Given the description of an element on the screen output the (x, y) to click on. 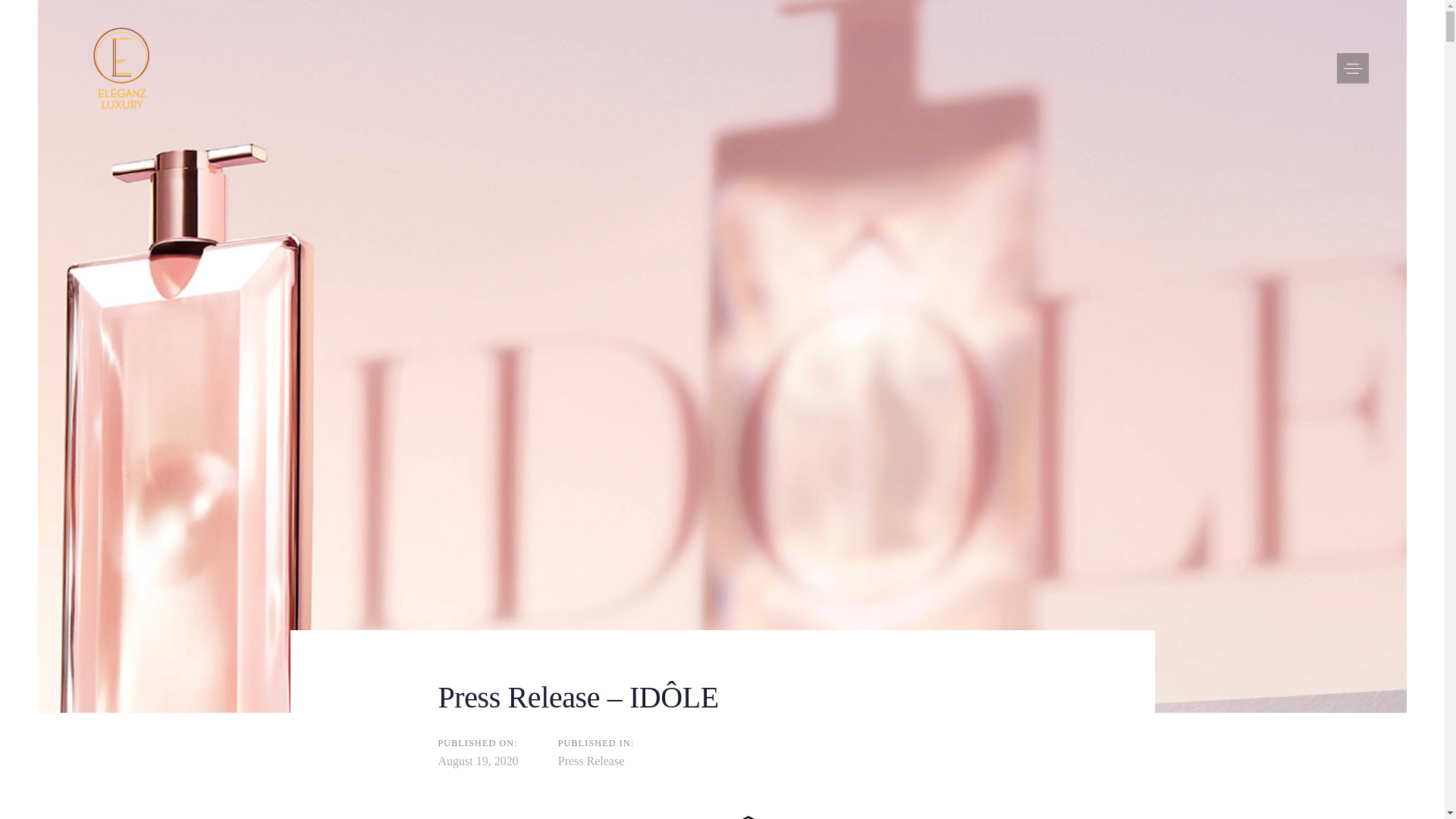
Press Release (590, 760)
August 19, 2020 (478, 760)
